Given the description of an element on the screen output the (x, y) to click on. 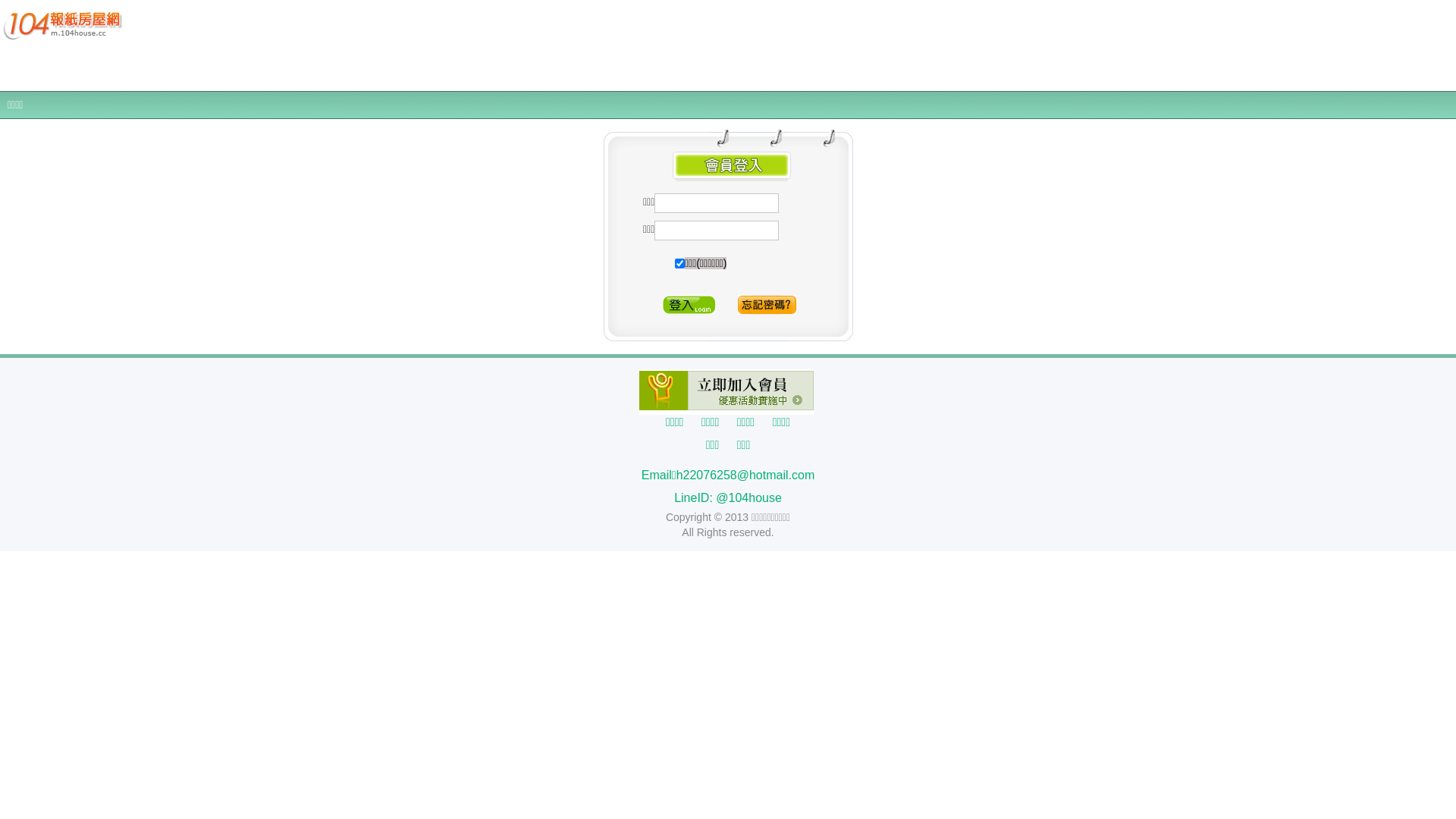
Advertisement Element type: hover (727, 68)
LineID: @104house Element type: text (727, 497)
